Given the description of an element on the screen output the (x, y) to click on. 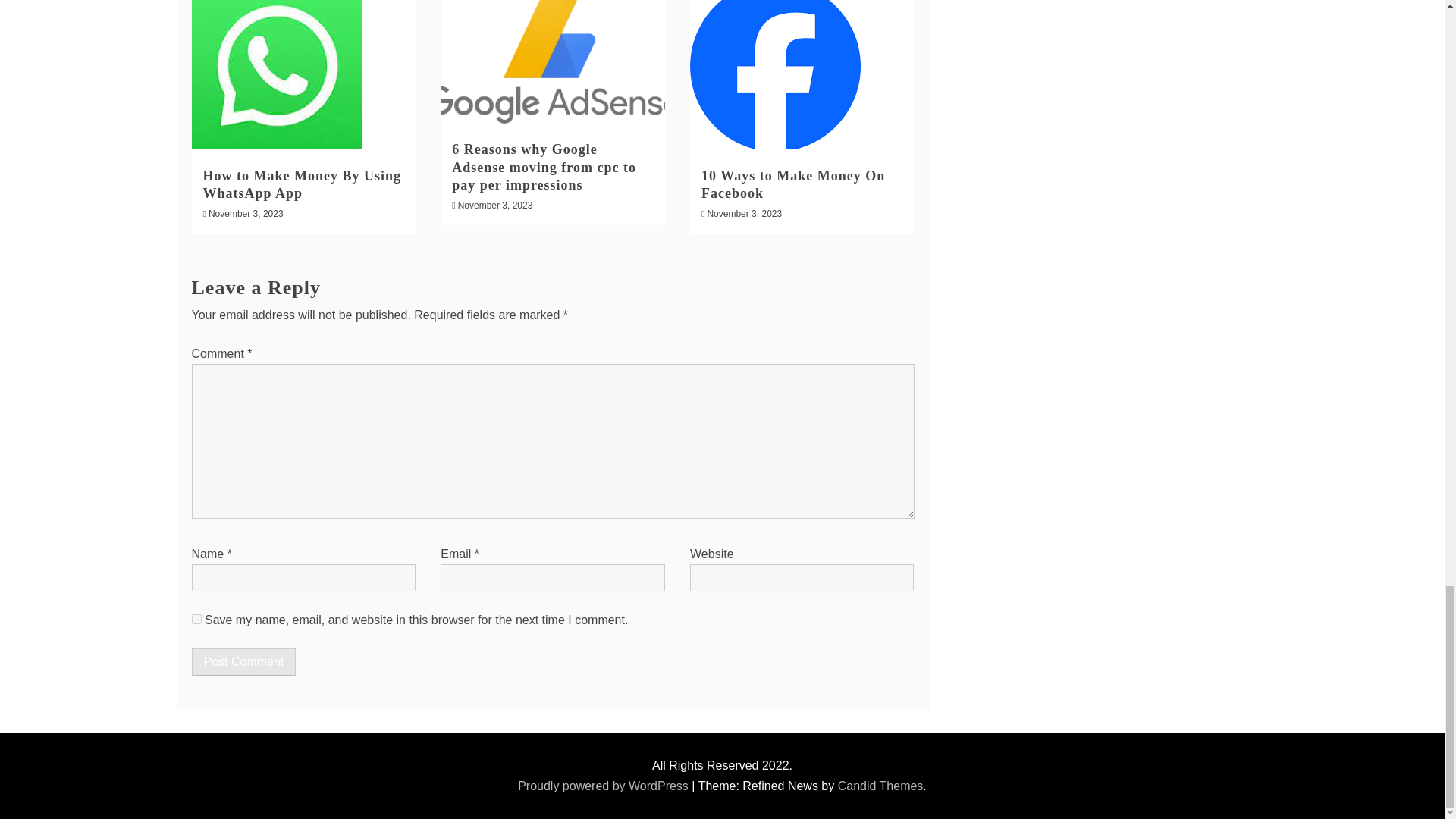
Post Comment (242, 661)
November 3, 2023 (245, 213)
November 3, 2023 (743, 213)
10 Ways to Make Money On Facebook (793, 184)
November 3, 2023 (495, 204)
yes (195, 619)
Post Comment (242, 661)
How to Make Money By Using WhatsApp App (302, 184)
